Given the description of an element on the screen output the (x, y) to click on. 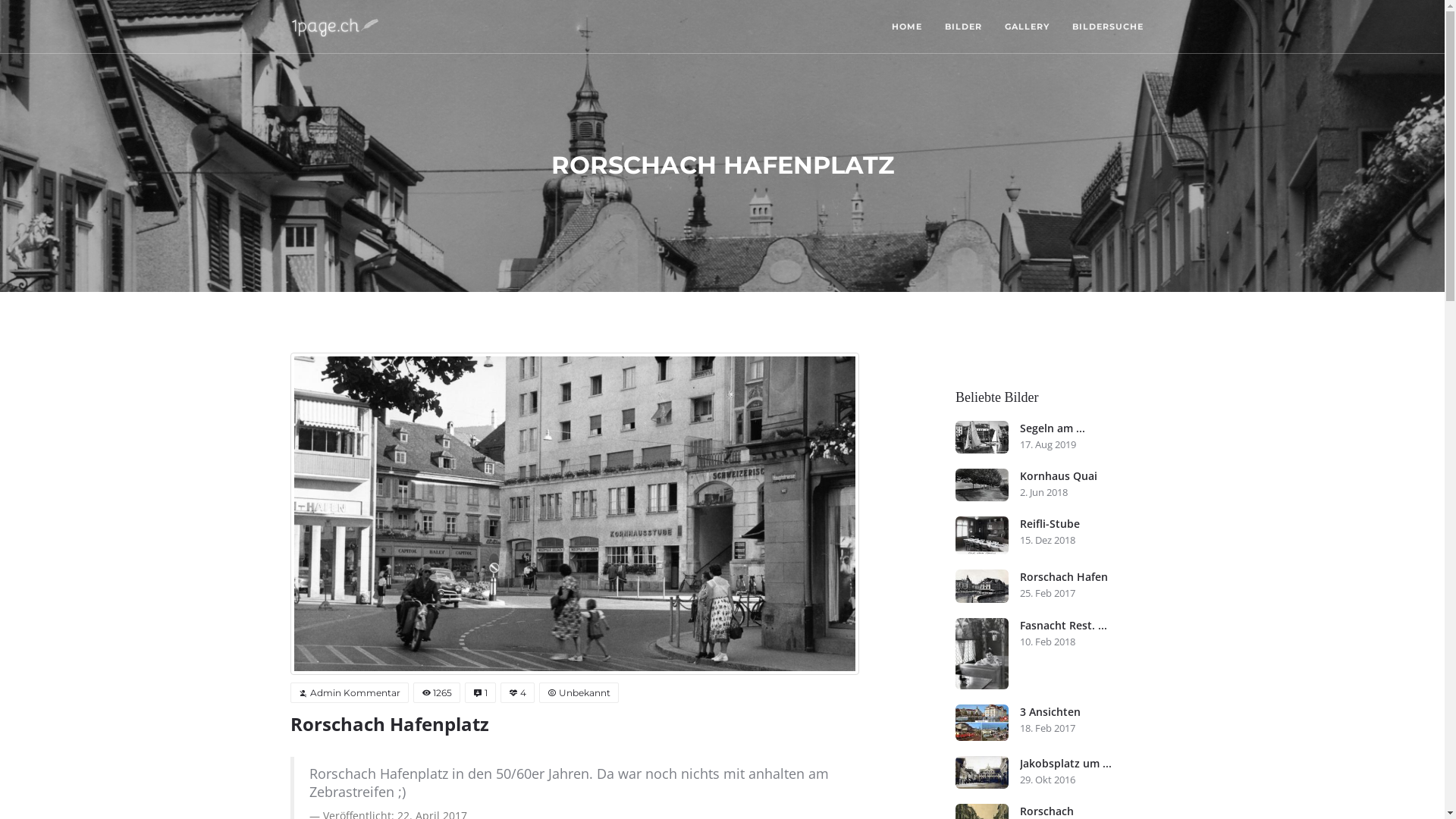
BILDERSUCHE Element type: text (1107, 26)
1265 Element type: text (435, 692)
Kornhaus Quai Element type: text (1086, 475)
Jakobsplatz um ... Element type: text (1086, 763)
GALLERY Element type: text (1026, 26)
1 Element type: text (479, 692)
3 Ansichten Element type: text (1086, 711)
BILDER Element type: text (962, 26)
Segeln am Bodensee Element type: hover (981, 436)
Unbekannt Element type: text (578, 692)
Rorschach Hafen Element type: hover (981, 585)
Rorschach Hafen Element type: text (1086, 576)
Admin Kommentar Element type: text (348, 692)
Segeln am ... Element type: text (1086, 428)
3 Ansichten Element type: hover (981, 722)
Reifli-Stube Element type: hover (981, 535)
4 Element type: text (517, 692)
Fasnacht Rest. ... Element type: text (1086, 625)
Reifli-Stube Element type: text (1086, 523)
Jakobsplatz um 1910 Element type: hover (981, 772)
Kornhaus Quai Element type: hover (981, 484)
Fasnacht Rest. Badhof Element type: hover (981, 653)
HOME Element type: text (905, 26)
